Given the description of an element on the screen output the (x, y) to click on. 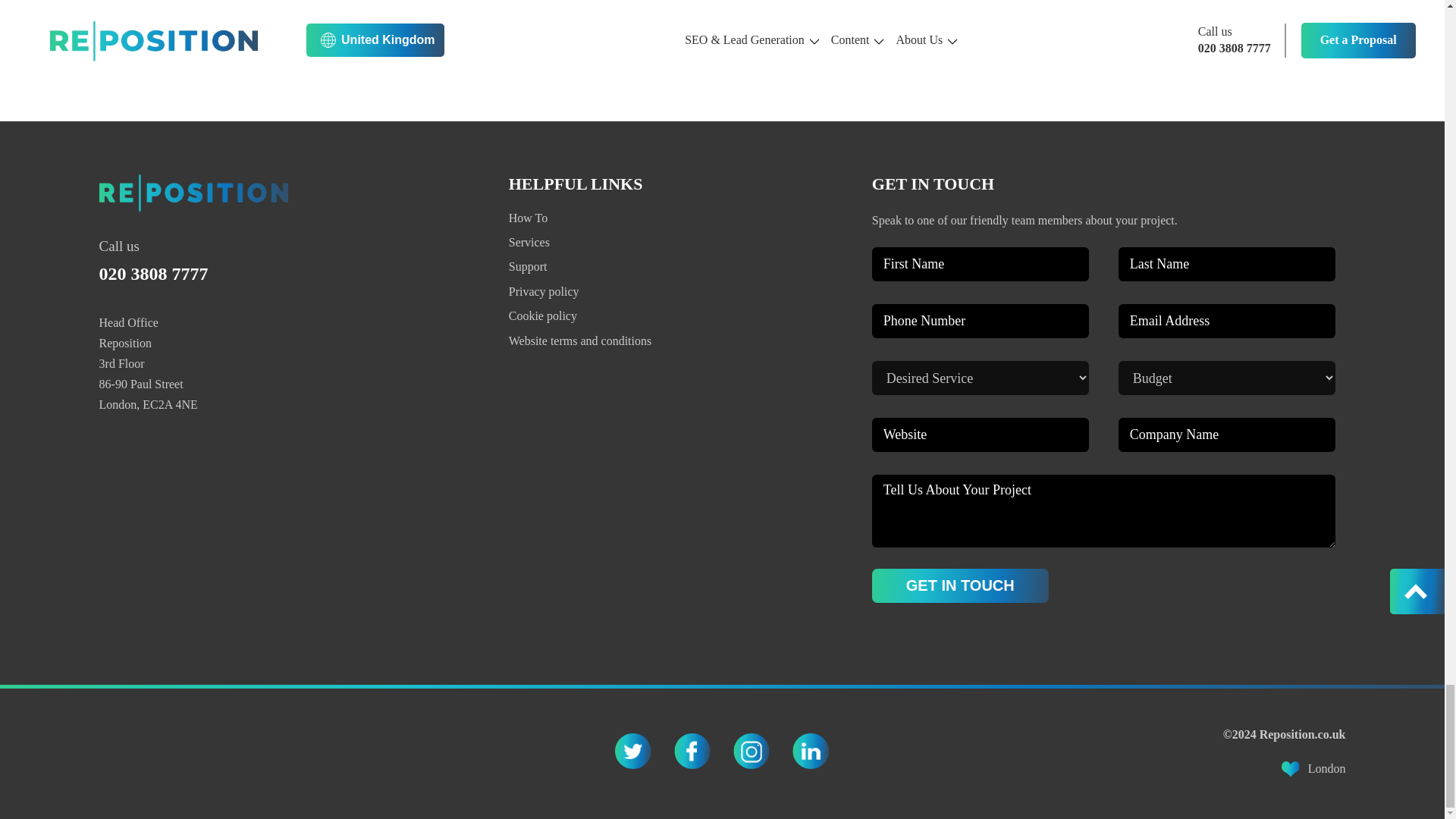
Get In Touch (960, 585)
